Given the description of an element on the screen output the (x, y) to click on. 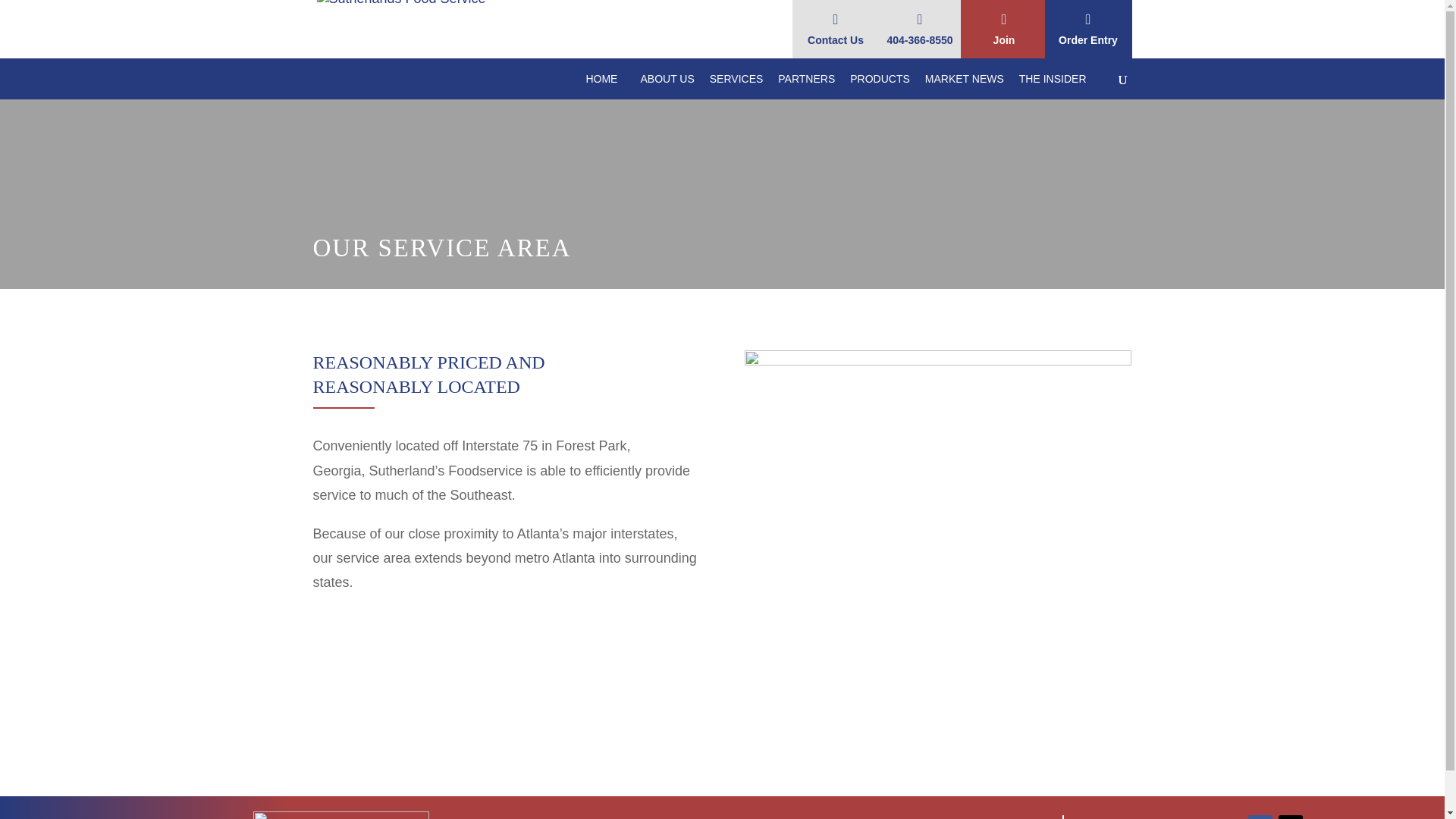
MARKET NEWS (971, 86)
HOME (601, 86)
Join (1002, 29)
404-366-8550 (919, 29)
Contact Us (835, 29)
BECOME A MEMBER (865, 717)
PARTNERS (813, 86)
THE INSIDER (1060, 86)
ABOUT US (674, 86)
PRODUCTS (887, 86)
